Given the description of an element on the screen output the (x, y) to click on. 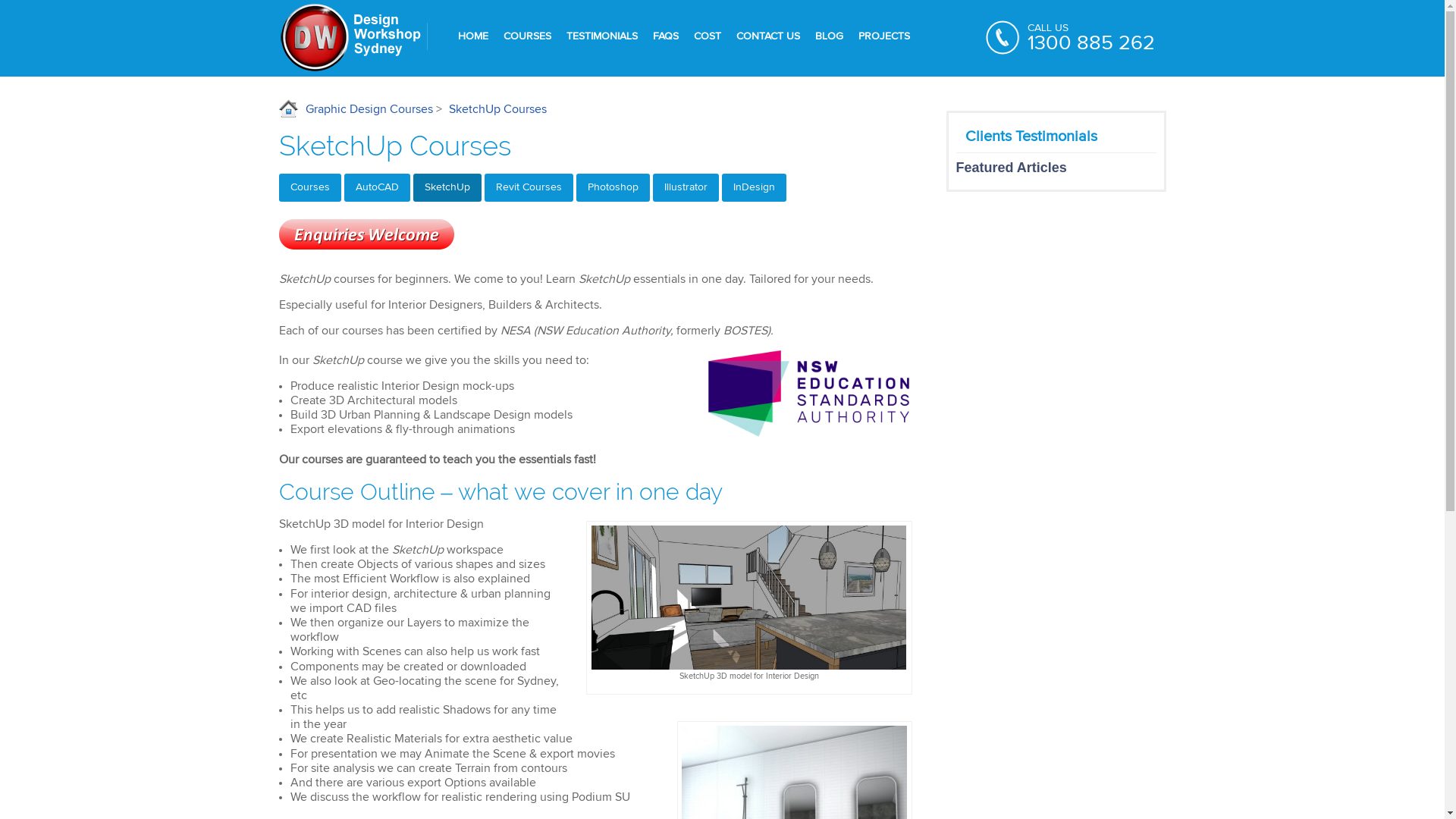
1300 885 262 Element type: text (1090, 43)
Graphic Design Courses Element type: text (356, 109)
CONTACT US Element type: text (767, 36)
InDesign Element type: text (753, 187)
AutoCAD Element type: text (377, 187)
Courses Element type: text (310, 187)
Photoshop Element type: text (612, 187)
COURSES Element type: text (526, 36)
Illustrator Element type: text (685, 187)
BLOG Element type: text (828, 36)
Revit Courses Element type: text (527, 187)
PROJECTS Element type: text (883, 36)
SketchUp Courses Element type: text (497, 109)
FAQS Element type: text (664, 36)
TESTIMONIALS Element type: text (601, 36)
HOME Element type: text (472, 36)
SketchUp Element type: text (446, 187)
COST Element type: text (706, 36)
